Given the description of an element on the screen output the (x, y) to click on. 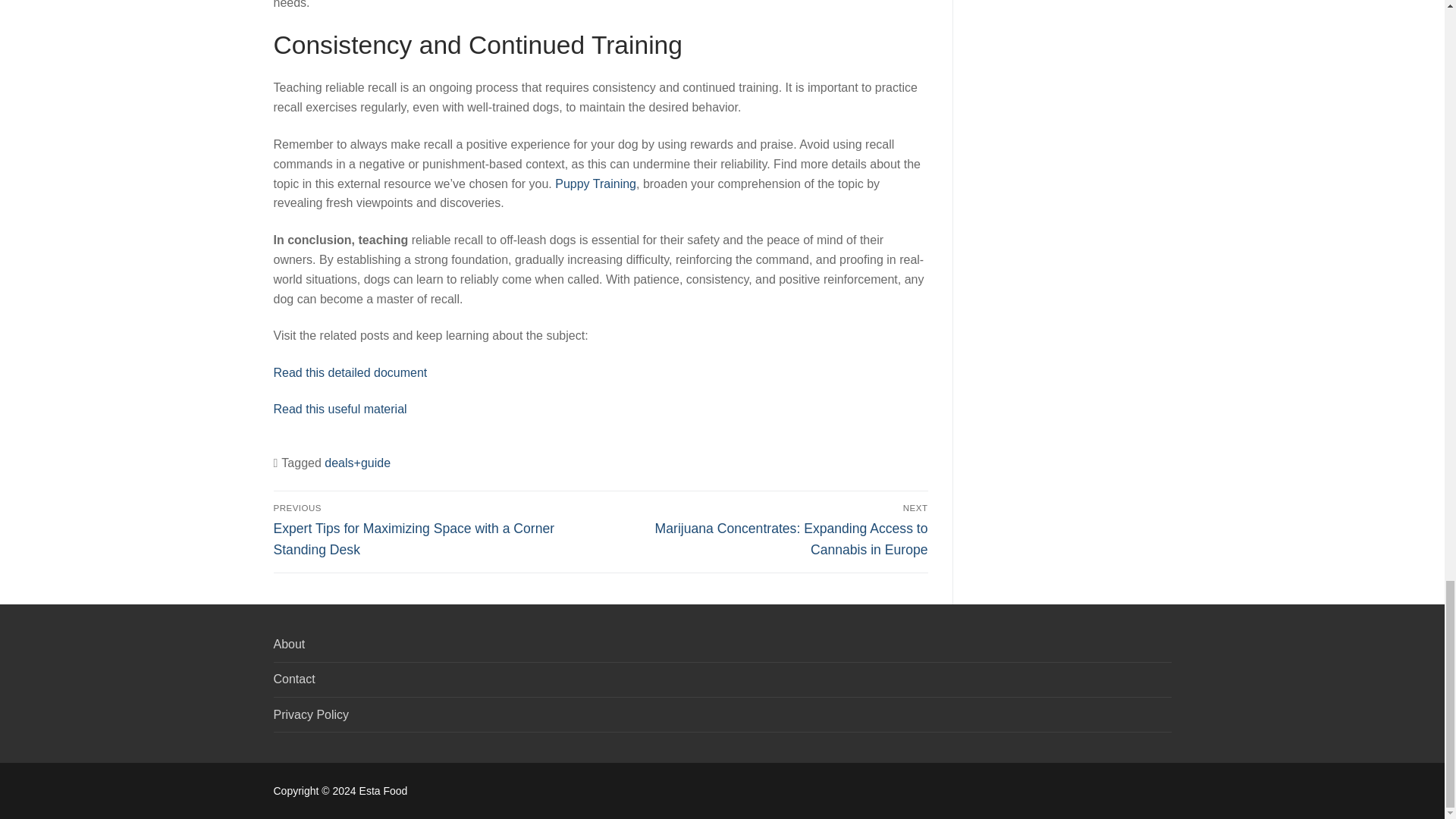
Read this detailed document (349, 372)
About (721, 647)
Read this useful material (339, 408)
Puppy Training (595, 183)
Contact (721, 682)
